Given the description of an element on the screen output the (x, y) to click on. 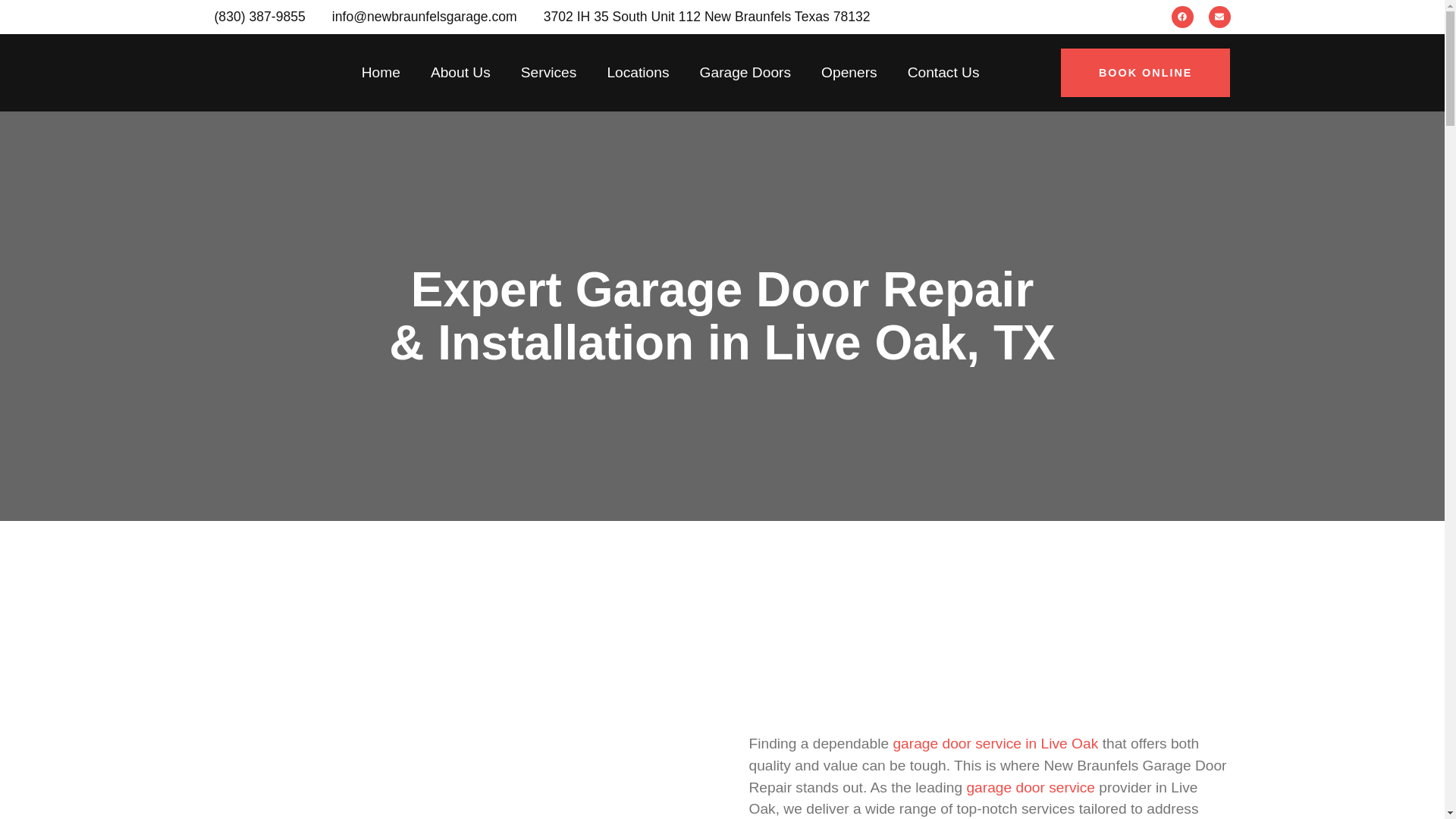
Home (380, 72)
About Us (459, 72)
Contact Us (943, 72)
Garage Doors (745, 72)
Openers (849, 72)
Locations (637, 72)
Services (548, 72)
